Given the description of an element on the screen output the (x, y) to click on. 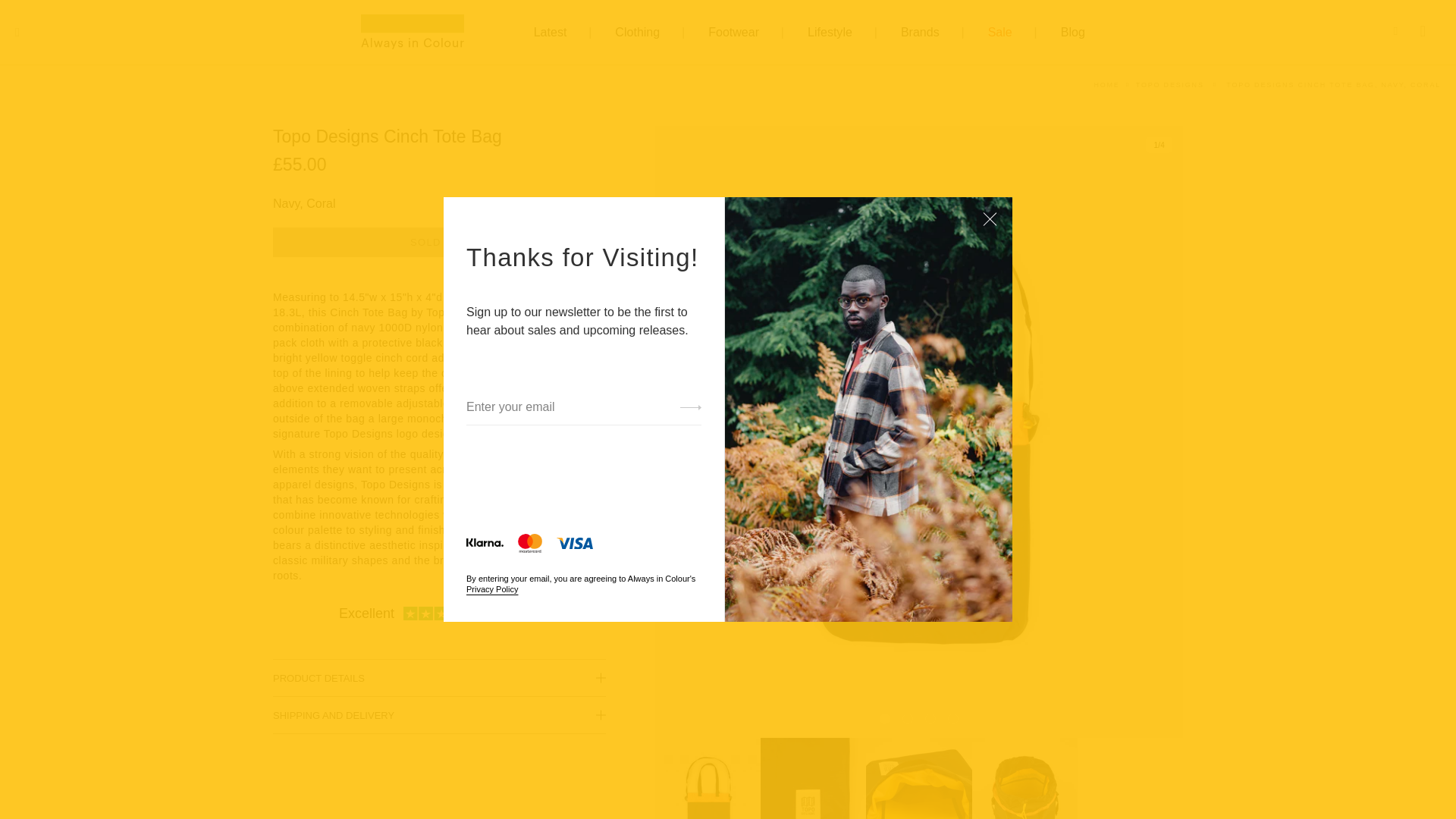
Home (1106, 84)
Customer reviews powered by Trustpilot (439, 613)
